Given the description of an element on the screen output the (x, y) to click on. 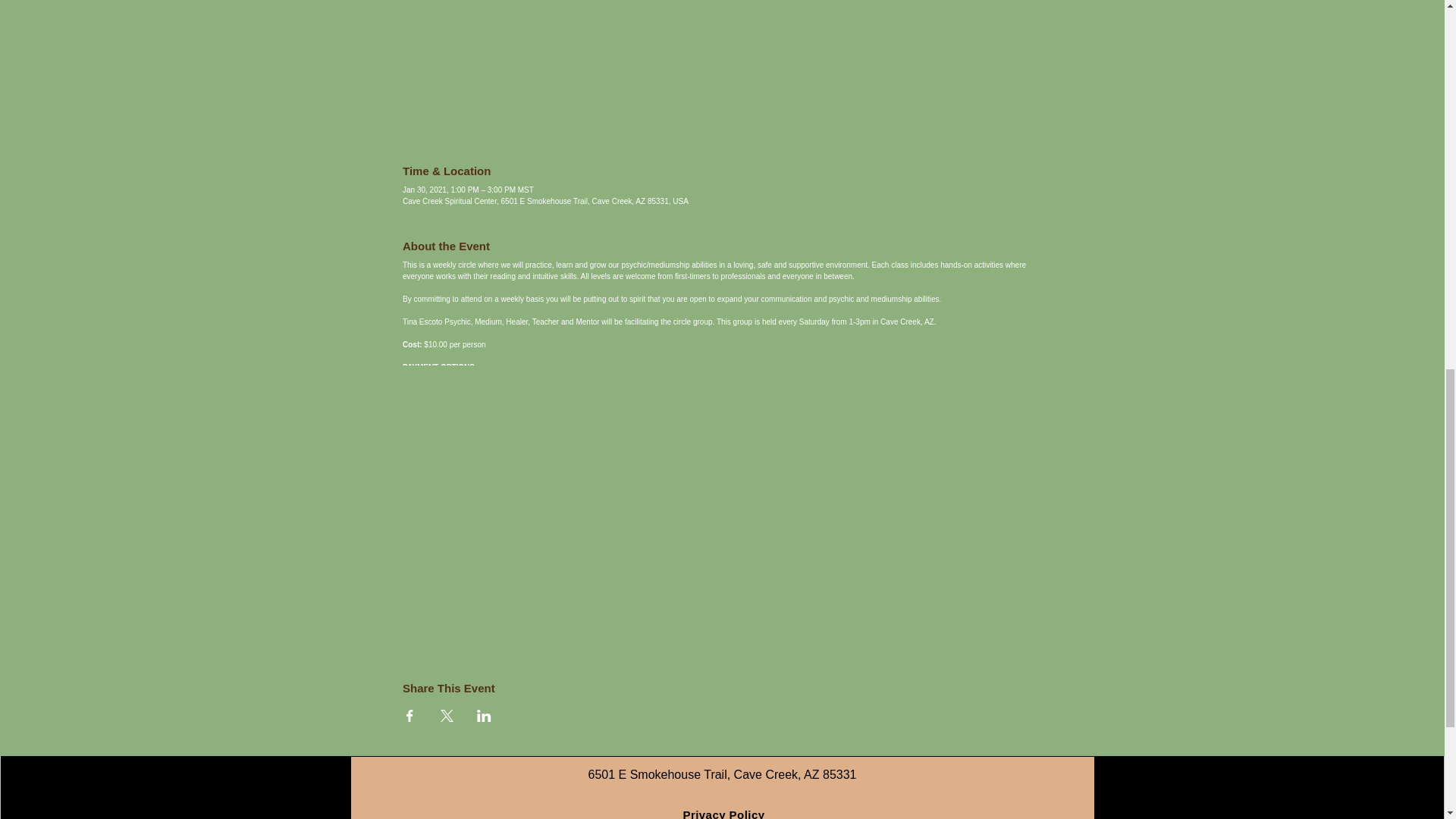
Privacy Policy (723, 813)
